Given the description of an element on the screen output the (x, y) to click on. 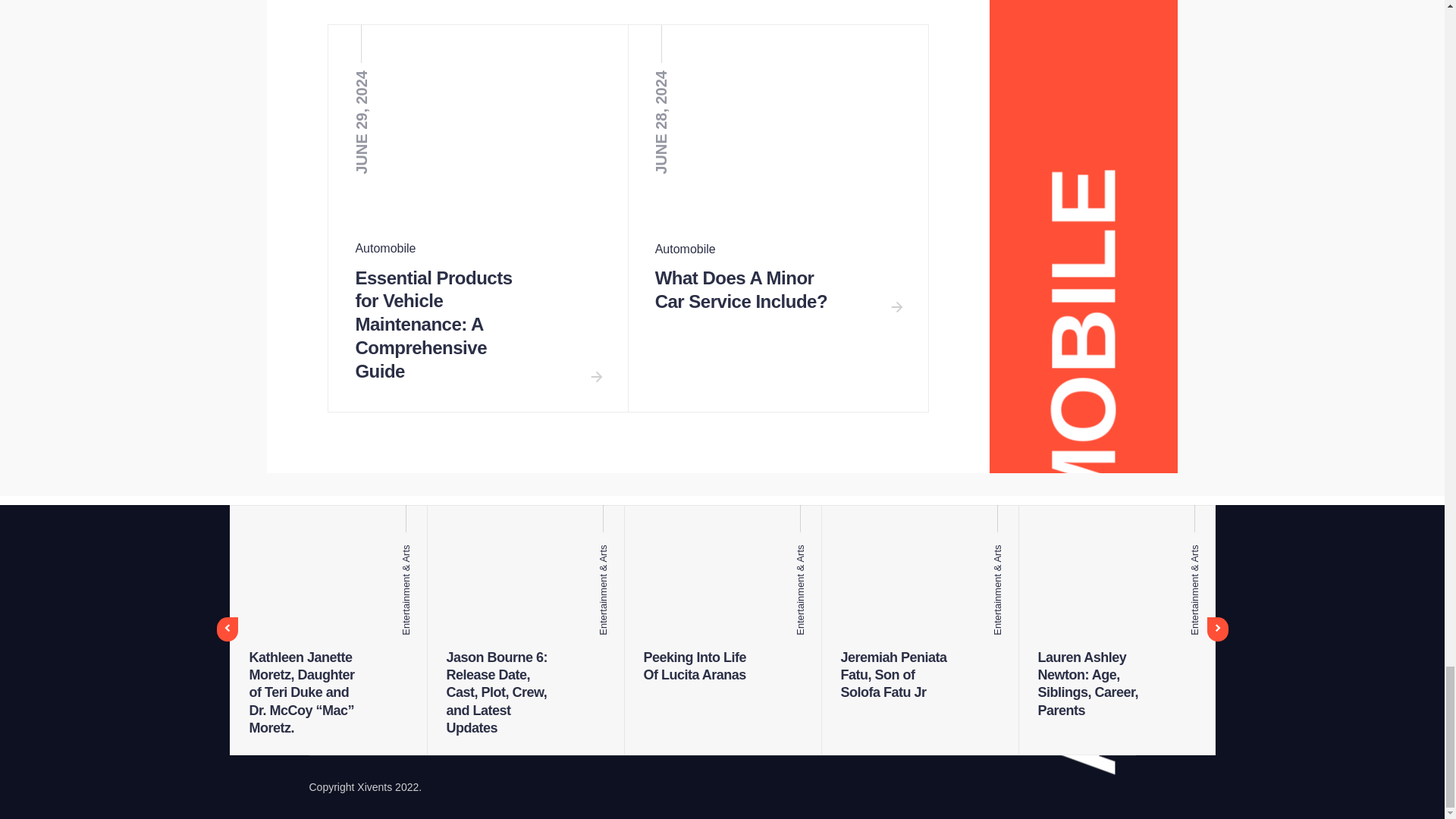
Automobile (384, 247)
What Does A Minor Car Service Include? (741, 291)
Automobile (685, 248)
